Given the description of an element on the screen output the (x, y) to click on. 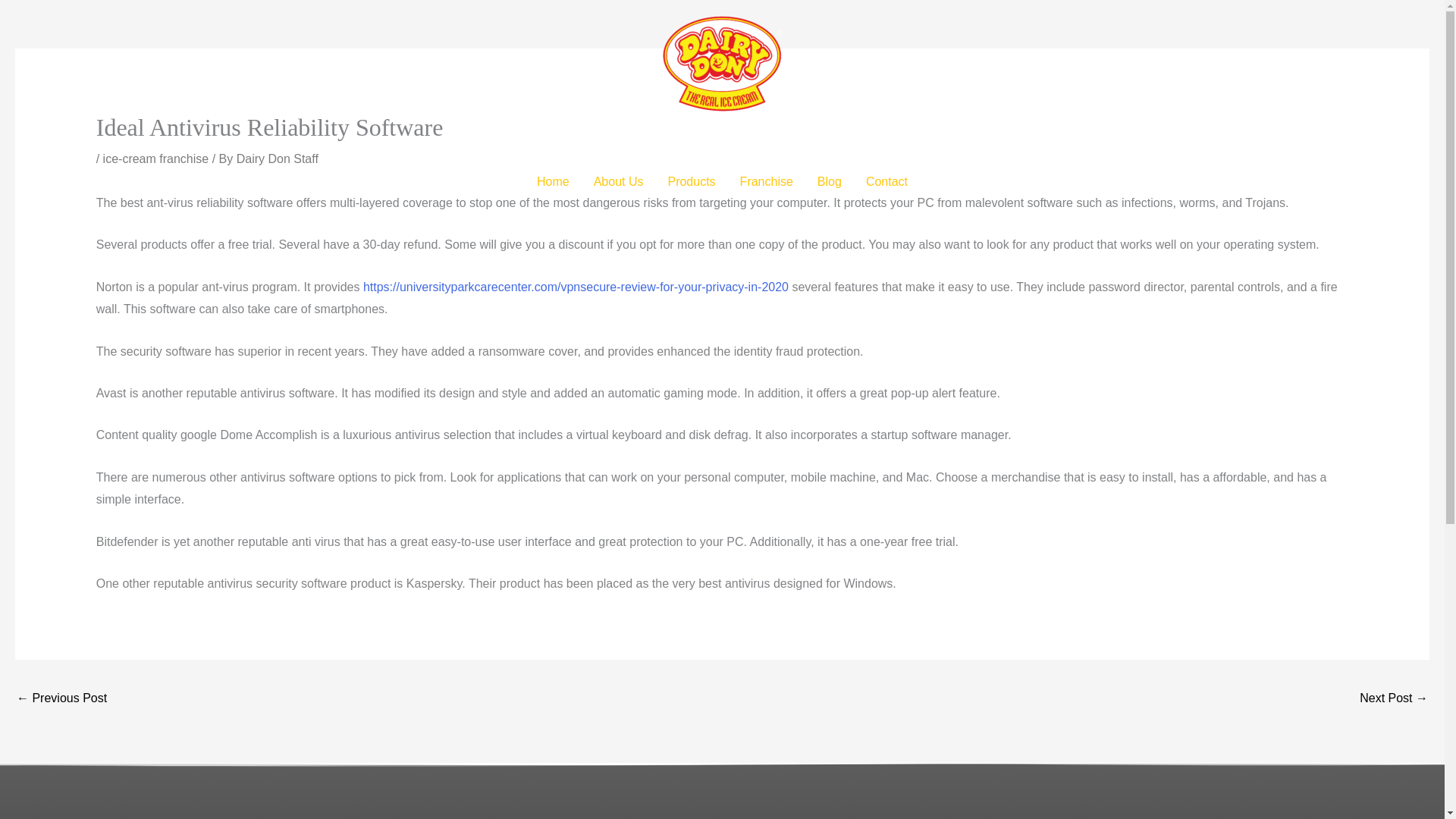
Franchise (766, 182)
Contact (886, 182)
Blog (829, 182)
Finest Antiviruses With respect to PC Gamers (61, 699)
Products (690, 182)
About Us (618, 182)
ice-cream franchise (156, 158)
View all posts by Dairy Don Staff (276, 158)
Home (552, 182)
